Given the description of an element on the screen output the (x, y) to click on. 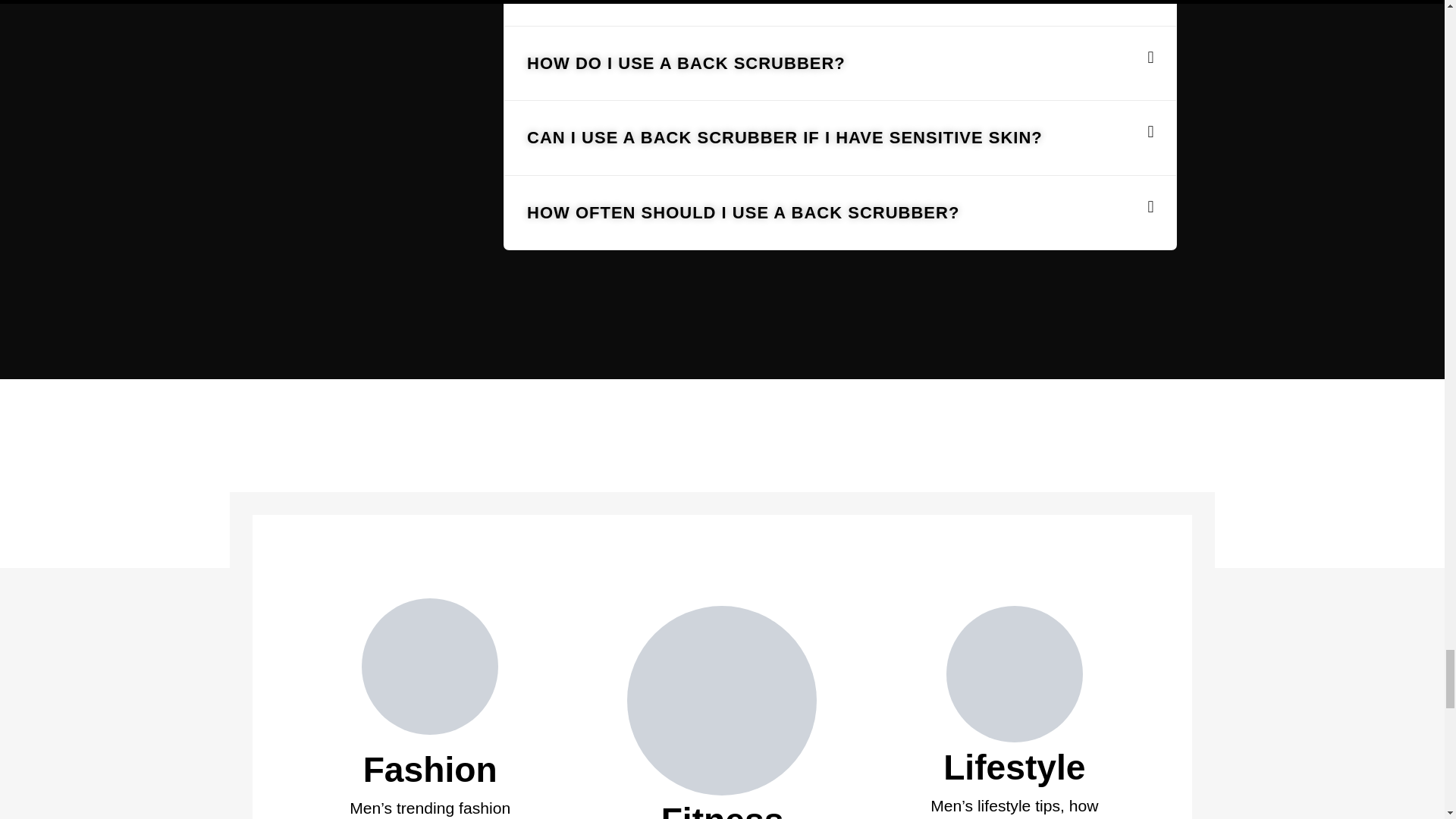
men fitness (721, 700)
men fashion (429, 666)
men lifestyle (1014, 674)
